Given the description of an element on the screen output the (x, y) to click on. 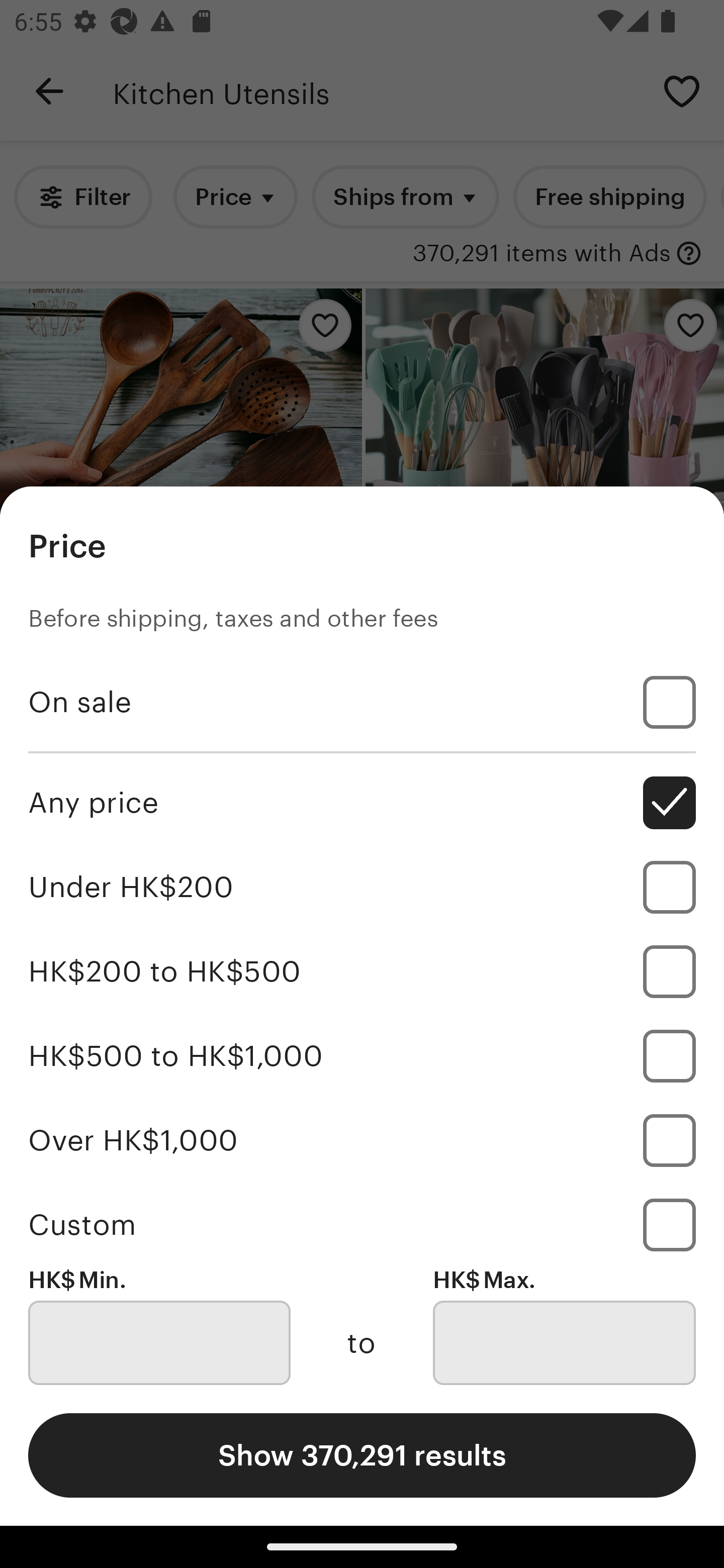
On sale (362, 702)
Any price (362, 802)
Under HK$200 (362, 887)
HK$200 to HK$500 (362, 970)
HK$500 to HK$1,000 (362, 1054)
Over HK$1,000 (362, 1139)
Custom (362, 1224)
Show 370,291 results (361, 1454)
